Given the description of an element on the screen output the (x, y) to click on. 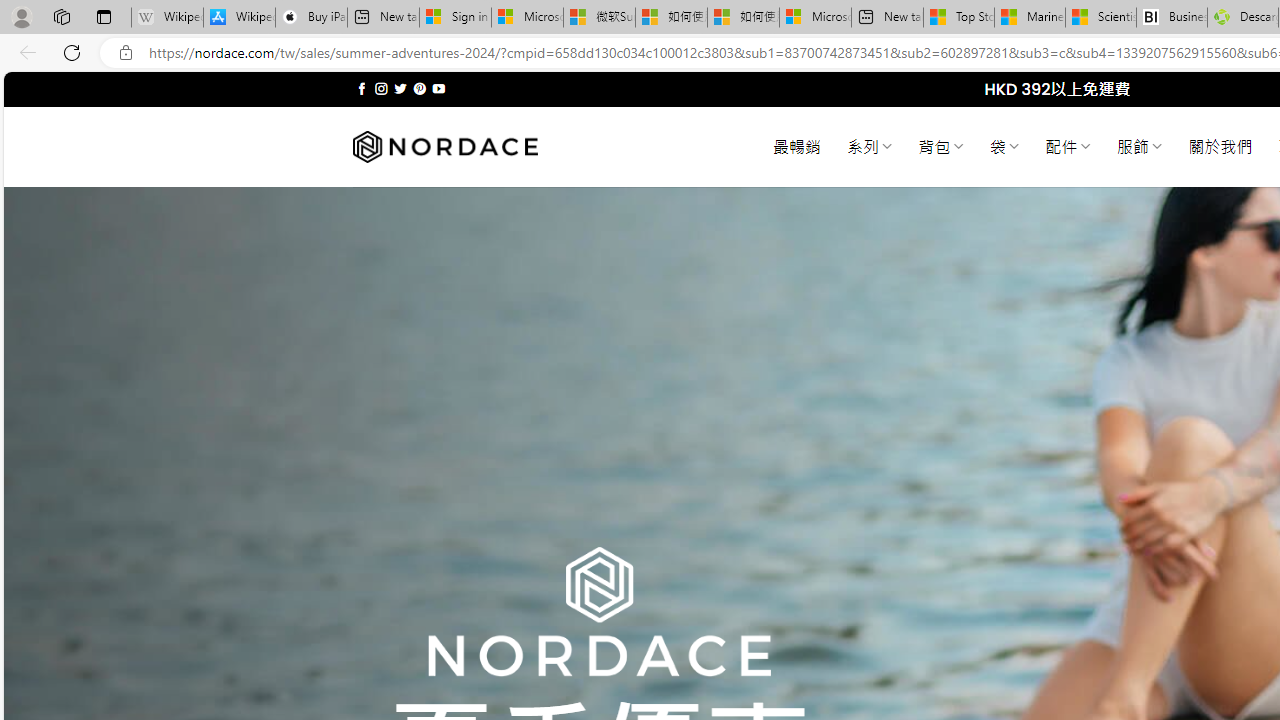
Follow on Twitter (400, 88)
Microsoft account | Account Checkup (815, 17)
